Given the description of an element on the screen output the (x, y) to click on. 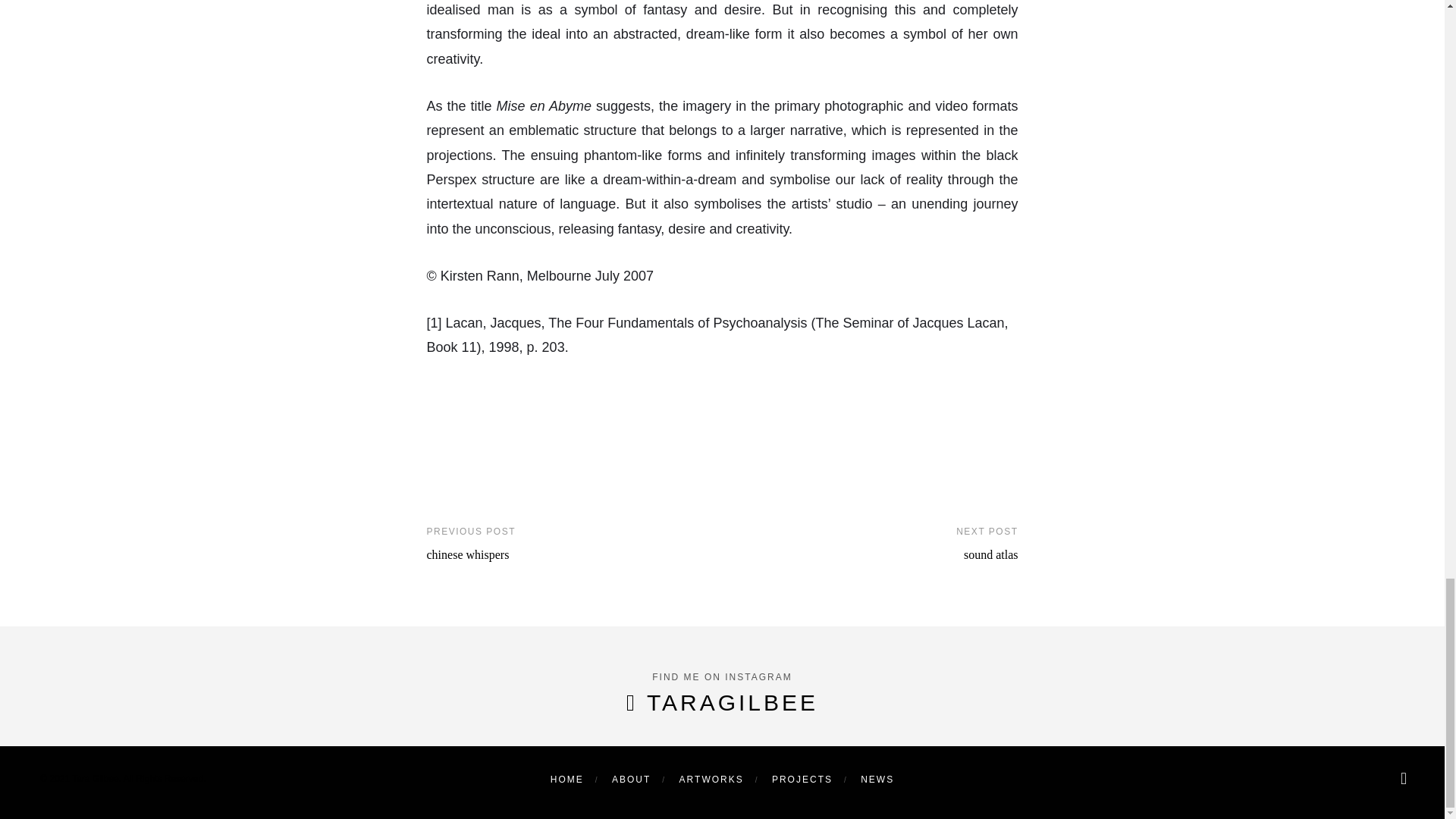
ABOUT (630, 778)
chinese whispers (467, 554)
TARAGILBEE (732, 702)
sound atlas (990, 554)
HOME (566, 778)
